Given the description of an element on the screen output the (x, y) to click on. 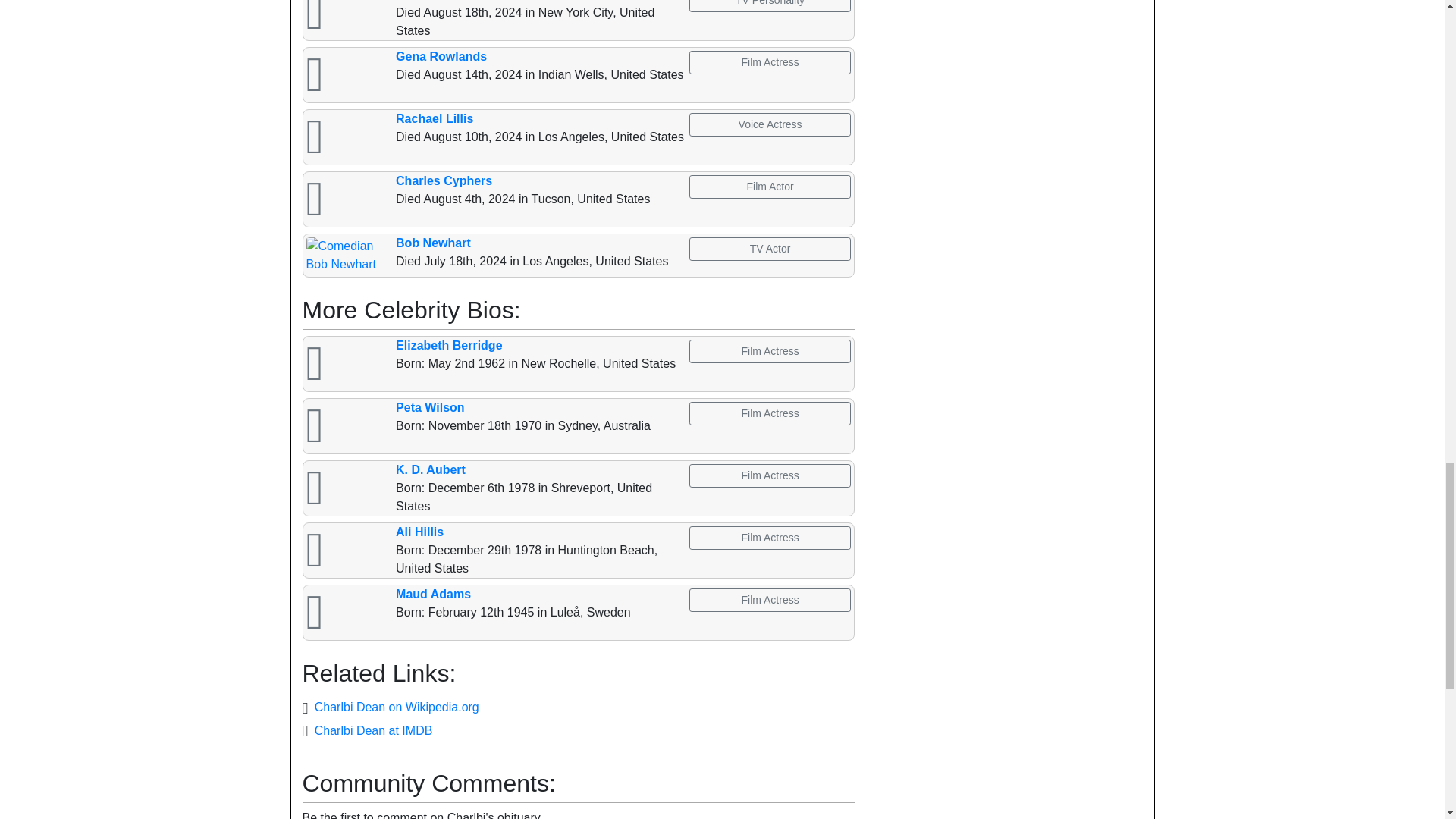
TV Personality (769, 6)
Film Actress (769, 62)
Rachael Lillis (434, 118)
Gena Rowlands (441, 56)
